Given the description of an element on the screen output the (x, y) to click on. 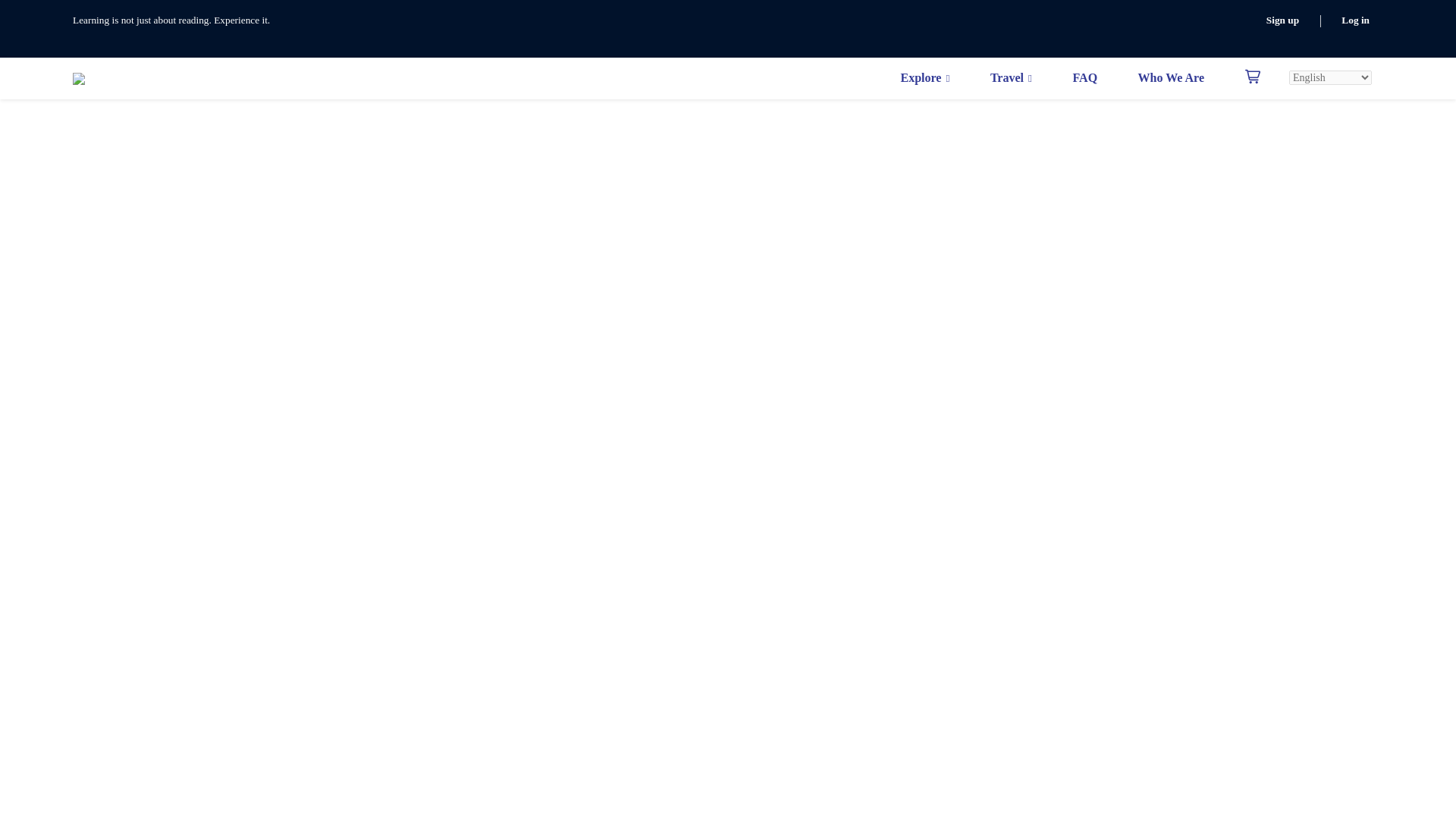
Log in (1355, 19)
Travel  (1010, 77)
FAQ (1084, 77)
Who We Are (1170, 77)
Explore (924, 77)
Sign up (1282, 19)
